Given the description of an element on the screen output the (x, y) to click on. 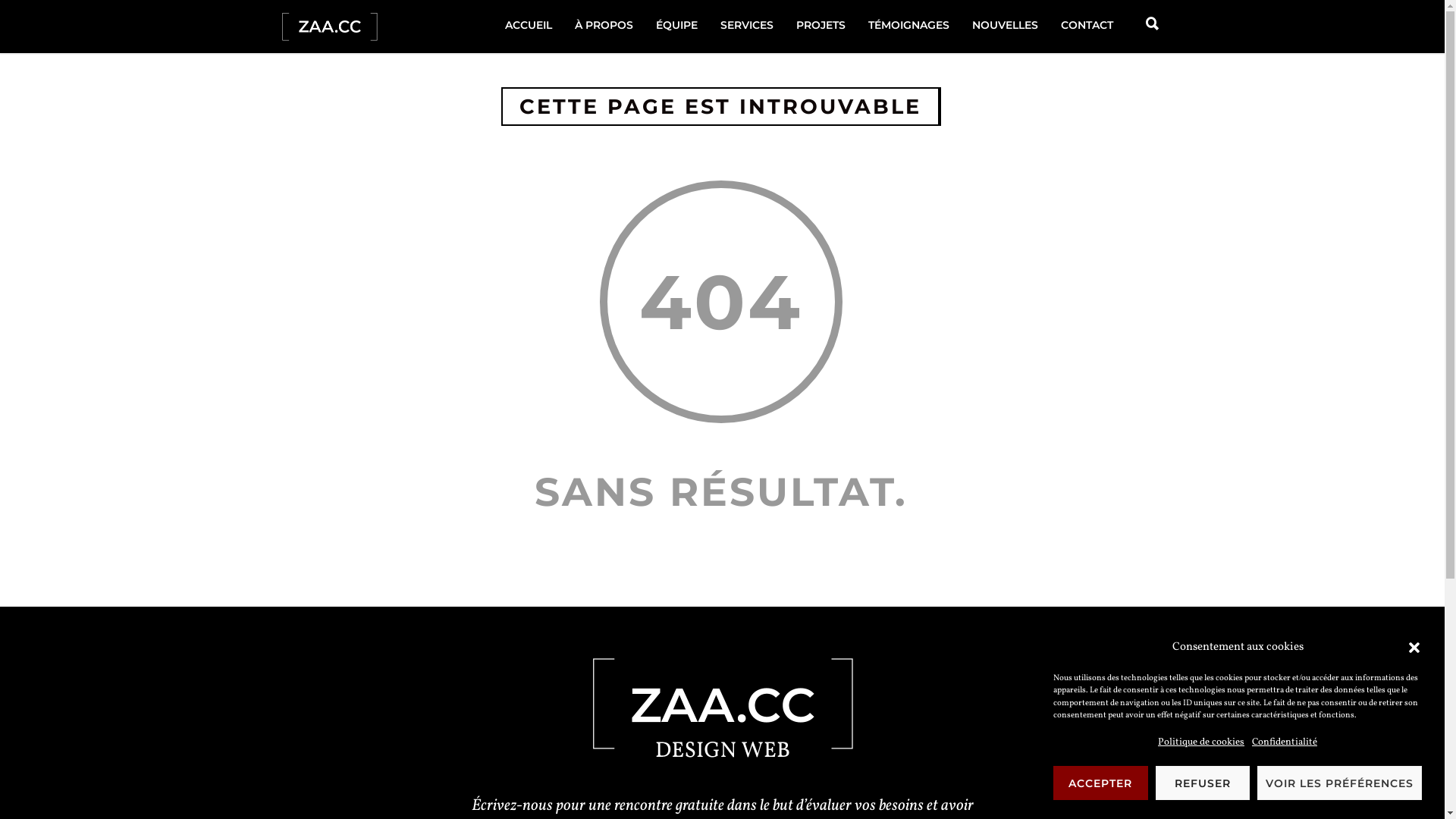
SERVICES Element type: text (746, 24)
NOUVELLES Element type: text (1004, 24)
ACCEPTER Element type: text (1100, 782)
PROJETS Element type: text (820, 24)
CONTACT Element type: text (1086, 24)
ACCUEIL Element type: text (527, 24)
Politique de cookies Element type: text (1200, 742)
REFUSER Element type: text (1202, 782)
